Given the description of an element on the screen output the (x, y) to click on. 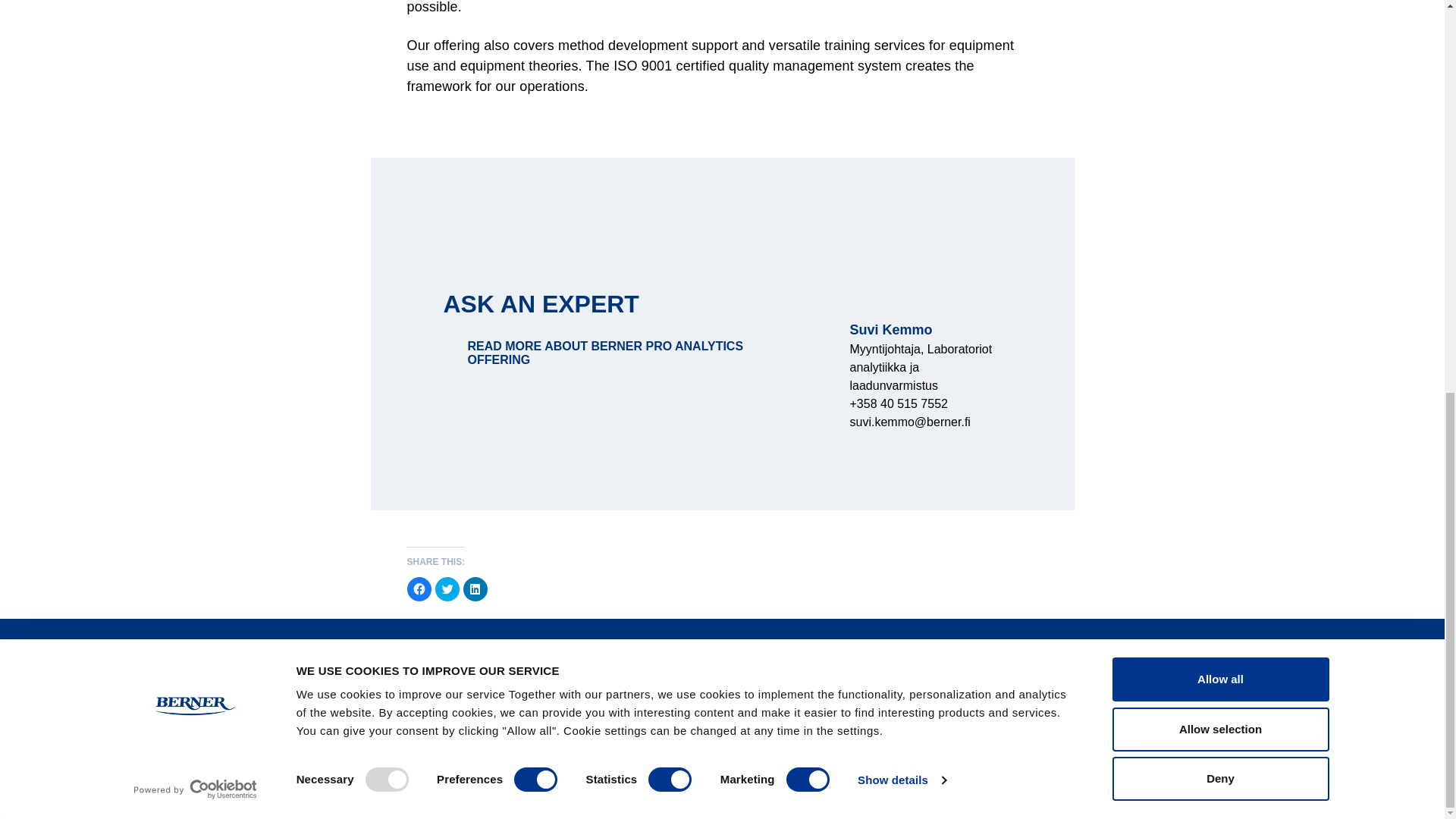
Click to share on Facebook (418, 589)
Click to share on LinkedIn (474, 589)
Click to share on Twitter (447, 589)
Show details (900, 27)
Deny (1219, 26)
